Given the description of an element on the screen output the (x, y) to click on. 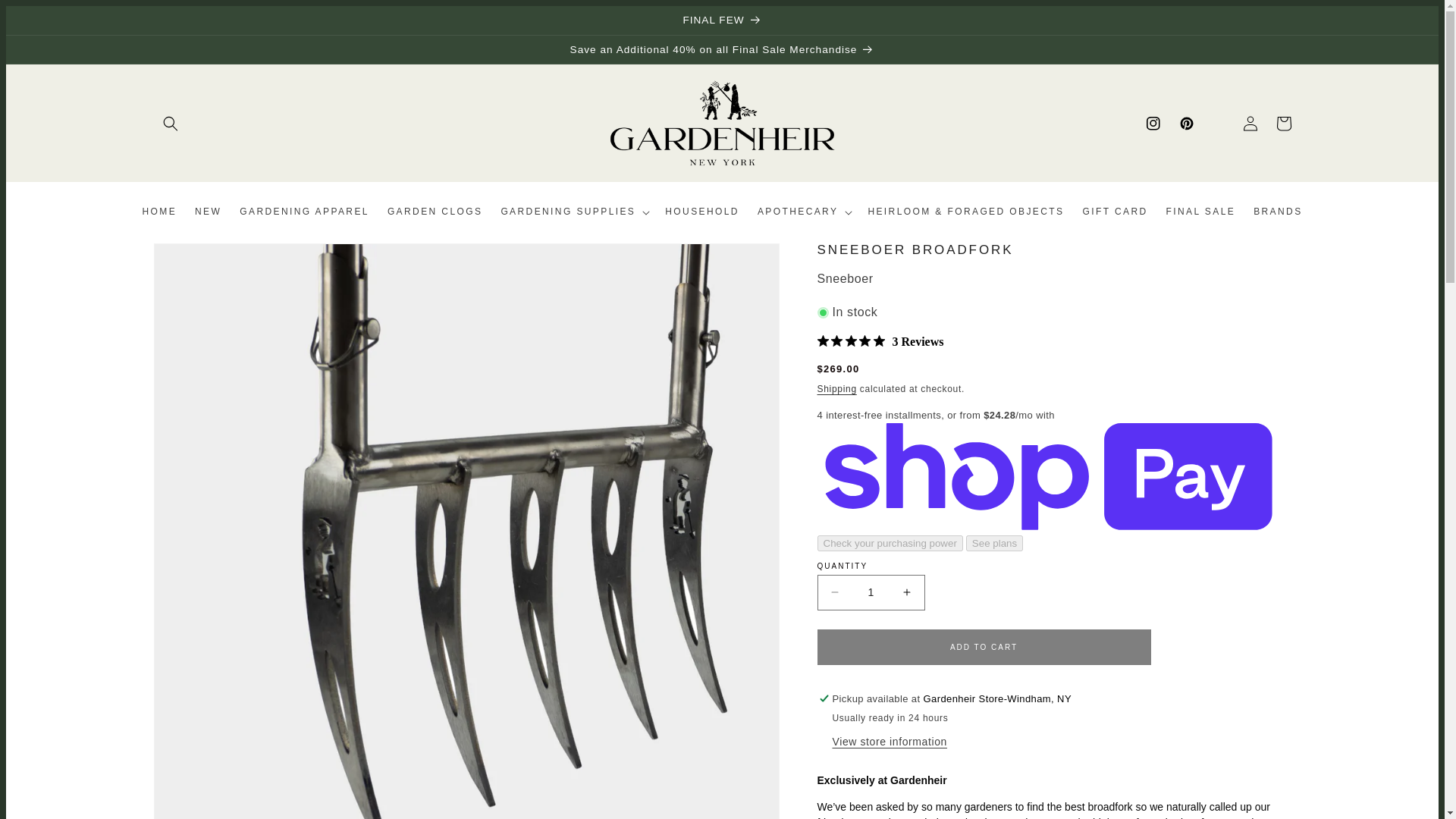
GARDENING APPAREL (304, 212)
GARDEN CLOGS (435, 212)
HOME (159, 212)
SKIP TO CONTENT (51, 22)
3 Reviews (879, 341)
1 (870, 592)
NEW (208, 212)
